Given the description of an element on the screen output the (x, y) to click on. 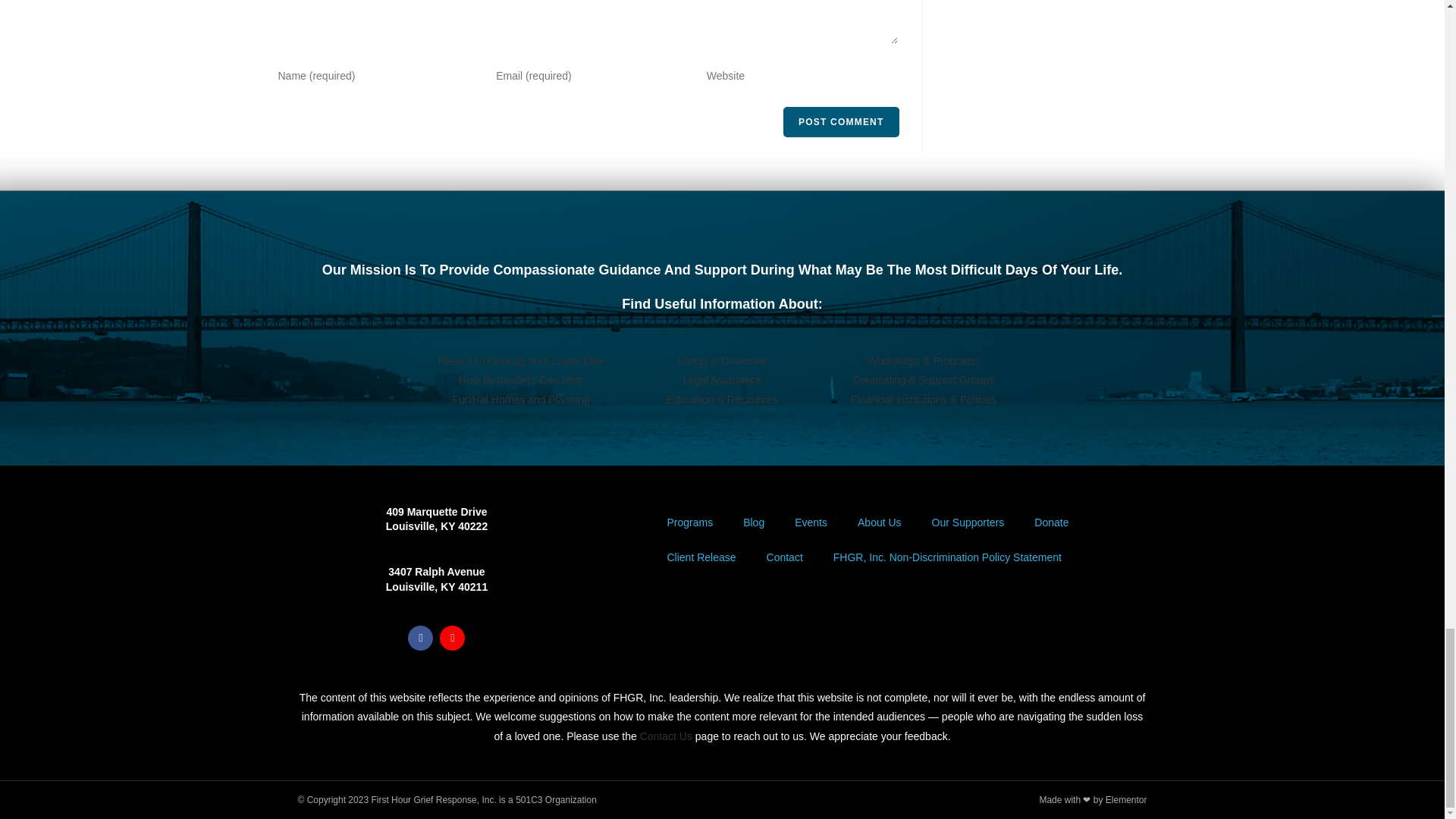
Post Comment (840, 122)
